Given the description of an element on the screen output the (x, y) to click on. 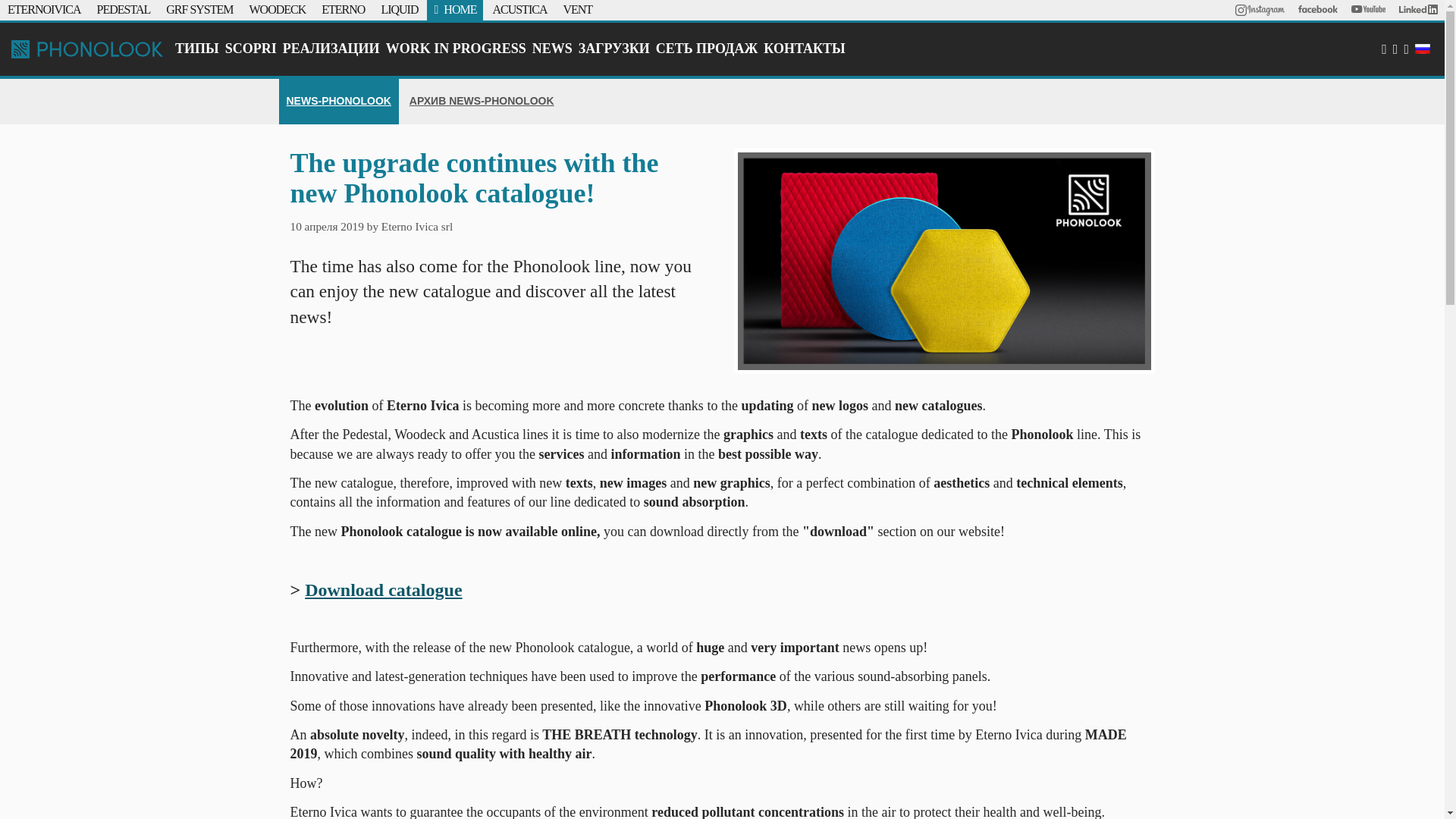
ACUSTICA (519, 9)
WORK IN PROGRESS (455, 49)
PEDESTAL (124, 9)
LIQUID (398, 9)
 The upgrade continues with the new Phonolook catalogue! (943, 260)
GRF SYSTEM (198, 9)
SCOPRI (250, 49)
ETERNOIVICA (44, 9)
WOODECK (276, 9)
